Given the description of an element on the screen output the (x, y) to click on. 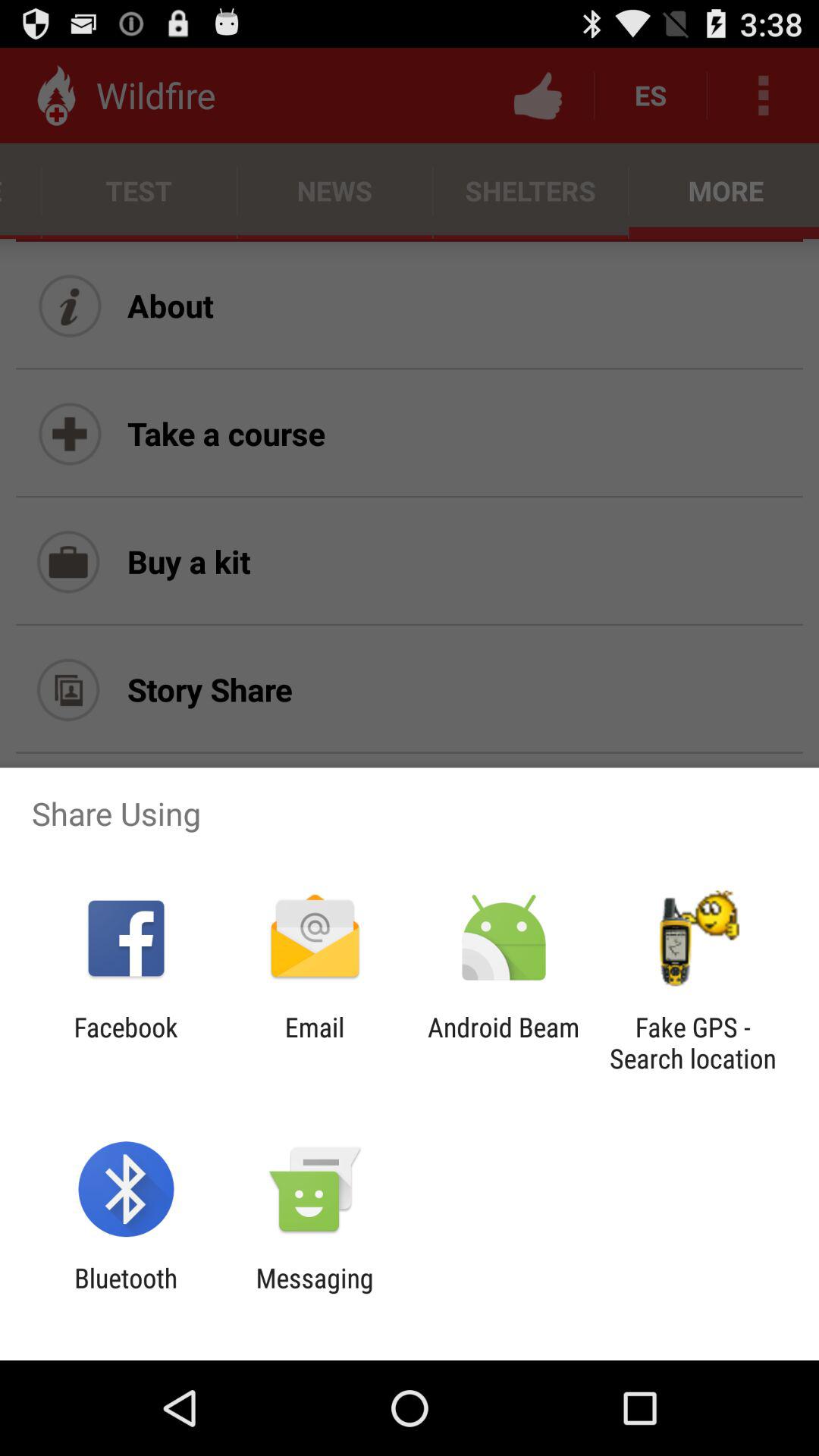
open app next to the email item (125, 1042)
